Given the description of an element on the screen output the (x, y) to click on. 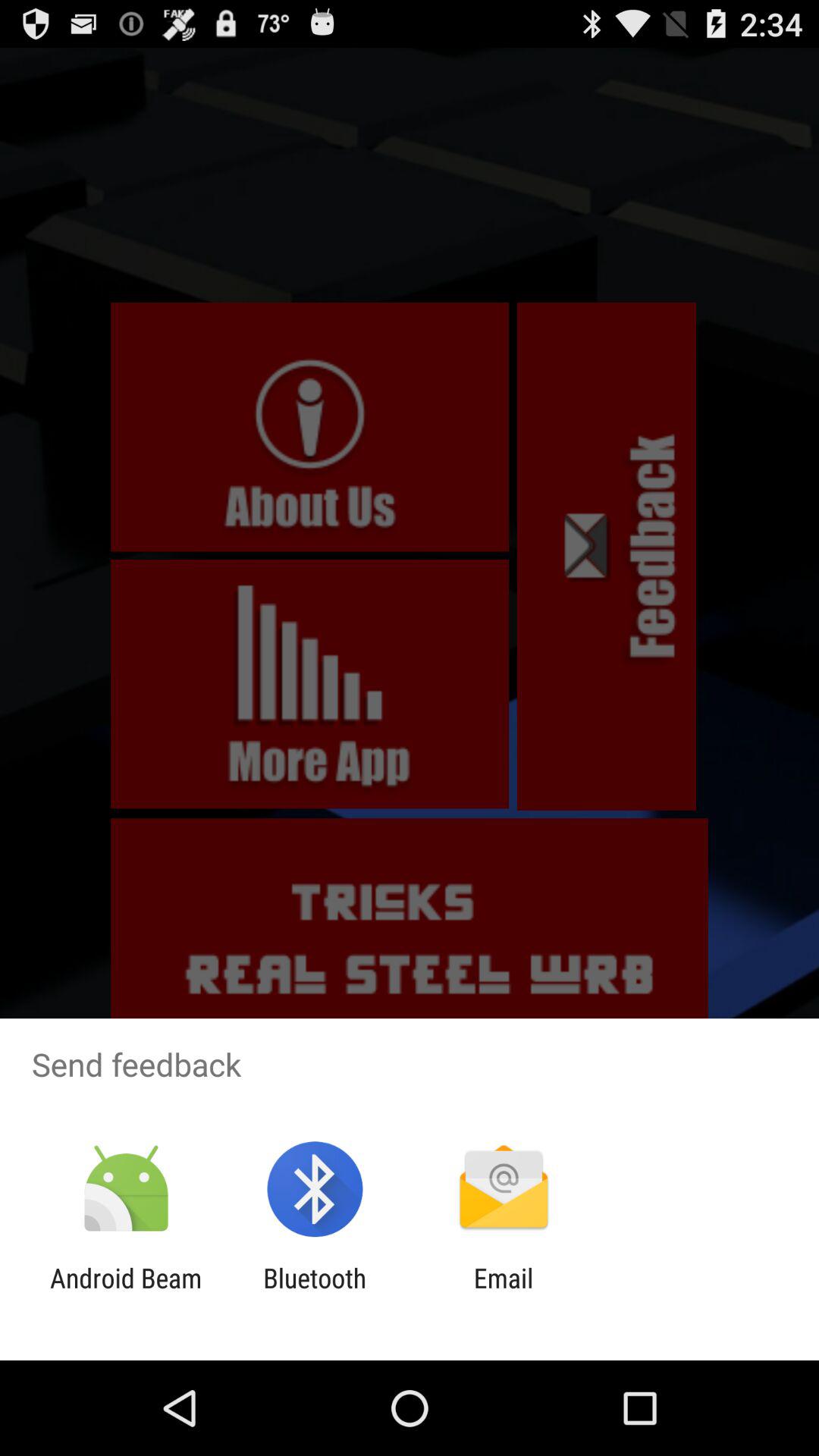
open item to the left of the bluetooth app (125, 1293)
